Given the description of an element on the screen output the (x, y) to click on. 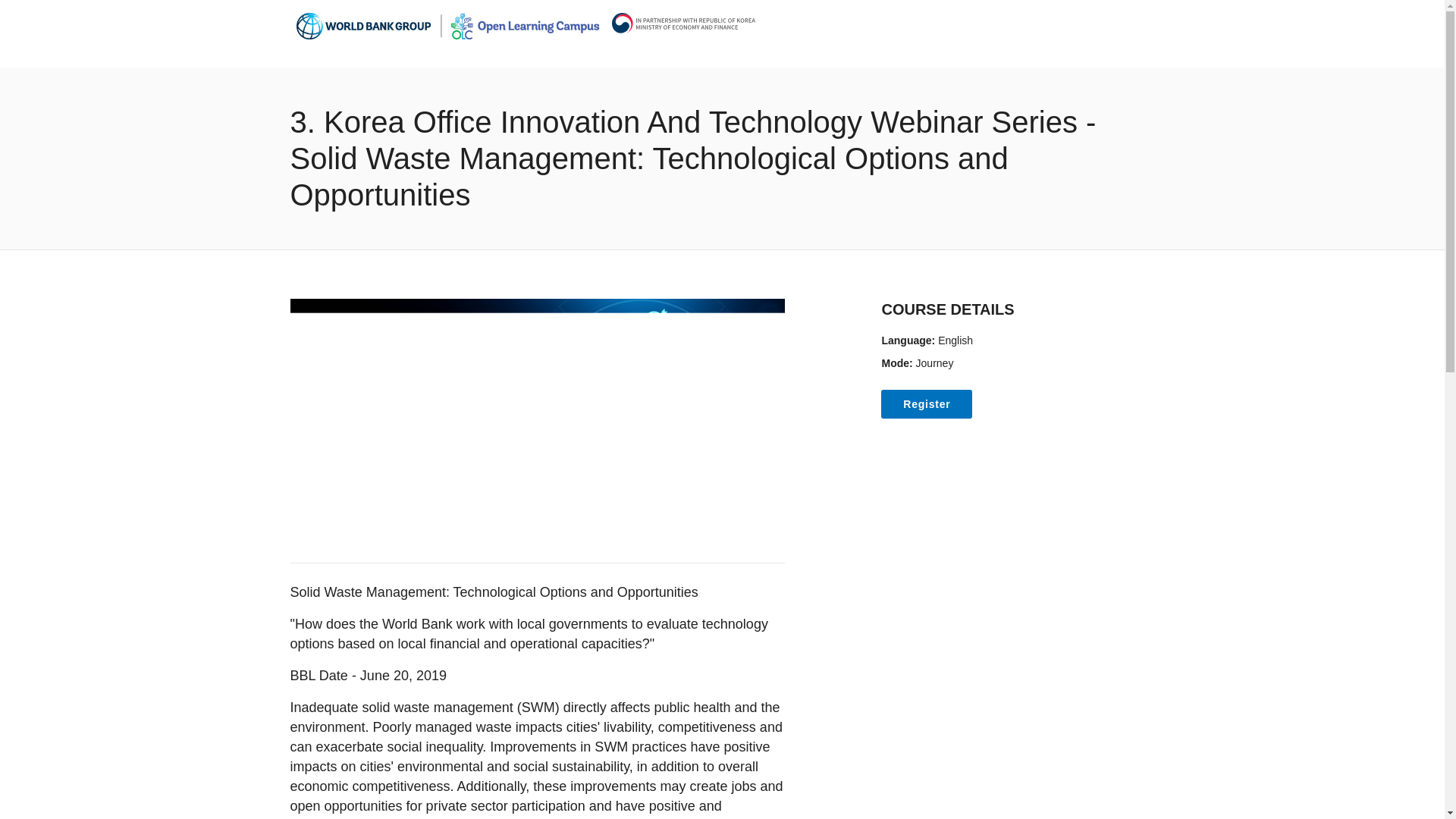
Register (926, 403)
Ministry of Economy and Finance (686, 23)
image (536, 422)
World Bank logo (446, 26)
